Given the description of an element on the screen output the (x, y) to click on. 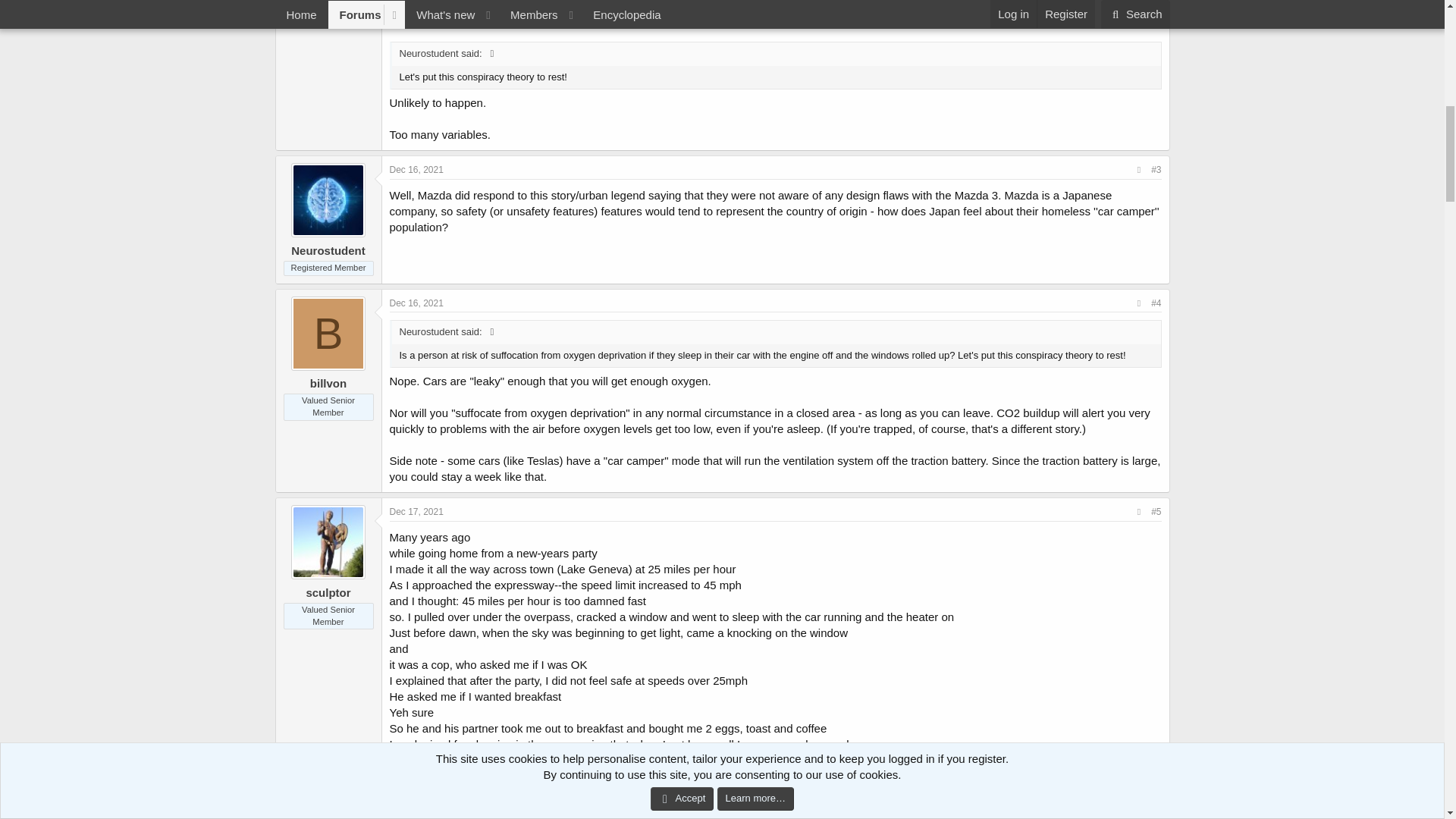
Dec 16, 2021 at 10:49 PM (417, 169)
Dec 16, 2021 at 11:23 PM (417, 303)
Dec 17, 2021 at 12:05 AM (417, 511)
